Given the description of an element on the screen output the (x, y) to click on. 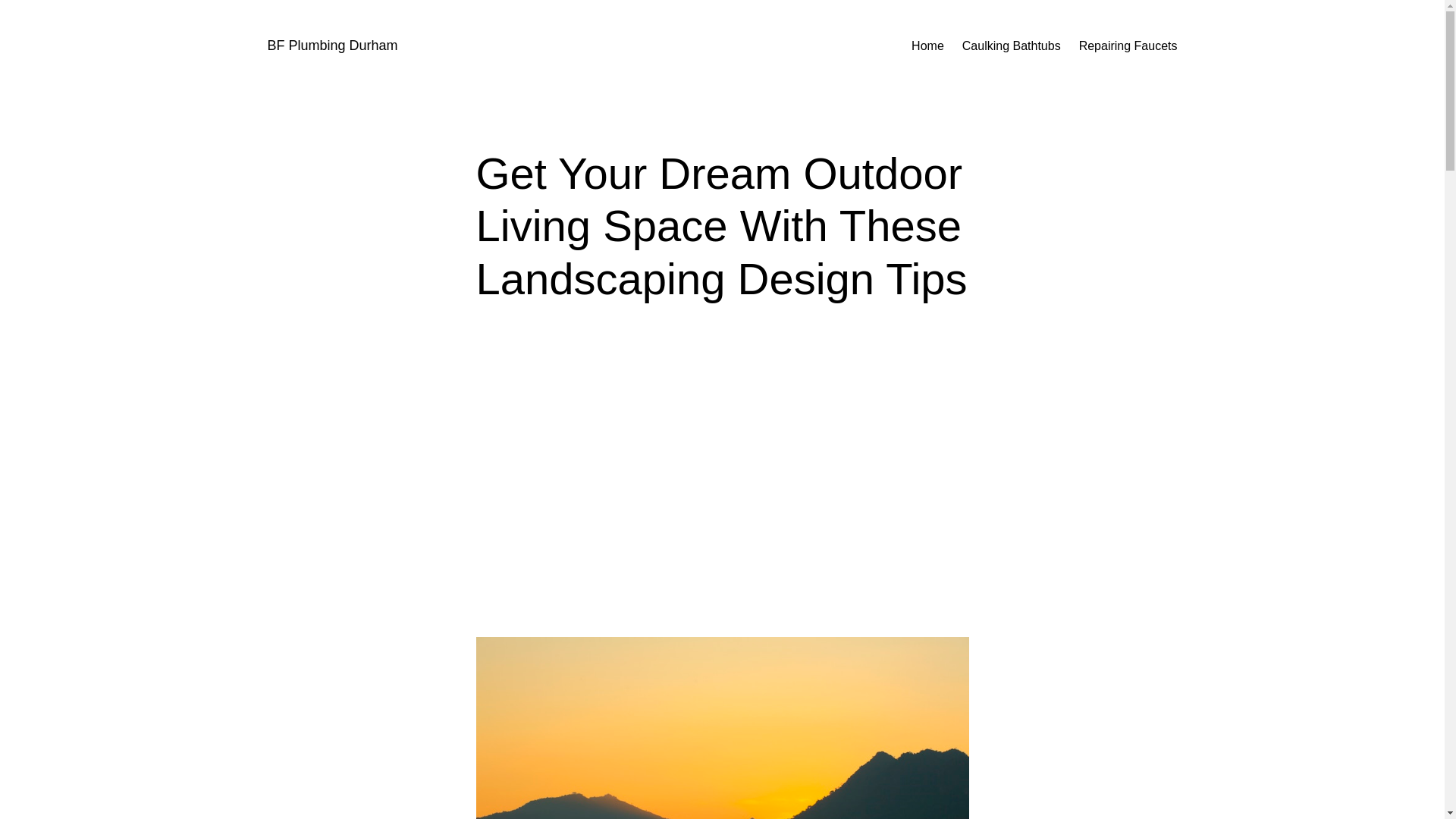
Repairing Faucets (1127, 46)
Home (927, 46)
BF Plumbing Durham (331, 45)
Caulking Bathtubs (1011, 46)
